Given the description of an element on the screen output the (x, y) to click on. 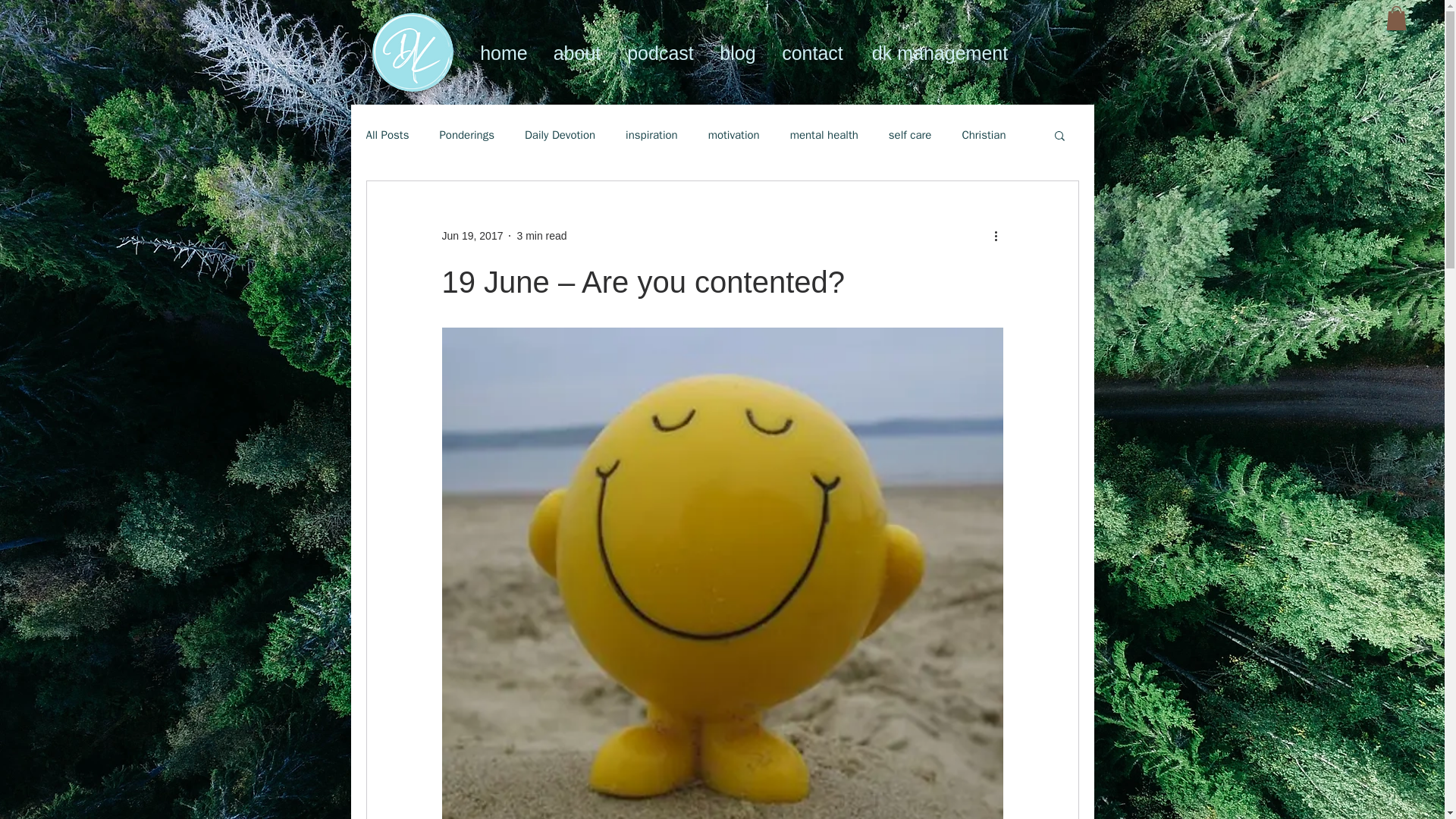
Daily Devotion (559, 134)
All Posts (387, 134)
about (576, 52)
contact (812, 52)
self care (909, 134)
motivation (733, 134)
Jun 19, 2017 (471, 234)
blog (737, 52)
dk management (940, 52)
3 min read (541, 234)
Christian (983, 134)
Ponderings (467, 134)
podcast (660, 52)
home (503, 52)
mental health (824, 134)
